Given the description of an element on the screen output the (x, y) to click on. 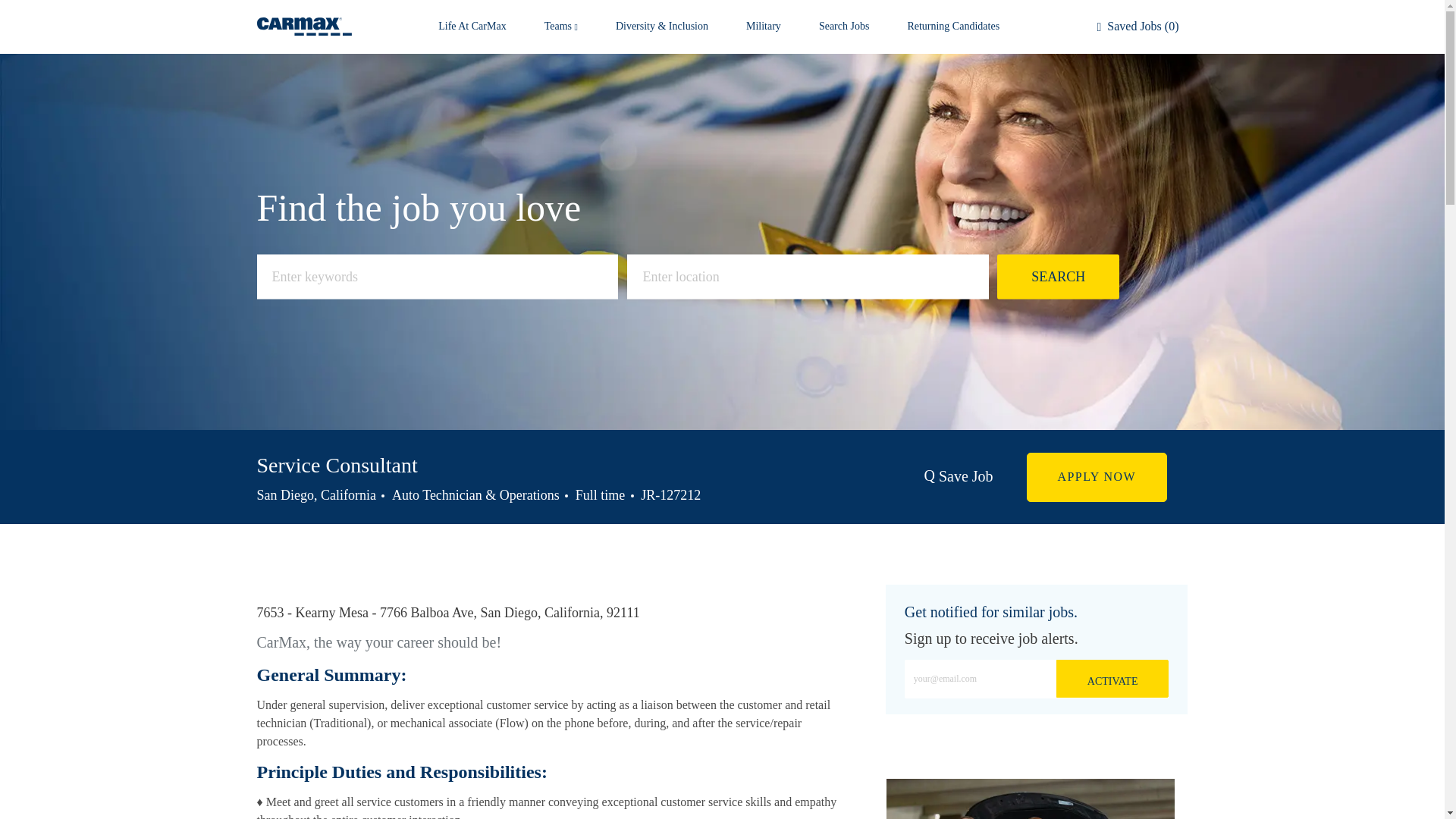
Search Jobs (843, 26)
ACTIVATE (1113, 678)
Returning Candidates (952, 26)
APPLY NOW (1096, 477)
Military (762, 26)
SEARCH (1058, 276)
Life At CarMax (471, 26)
Teams (561, 26)
Apply Now (1096, 477)
